Given the description of an element on the screen output the (x, y) to click on. 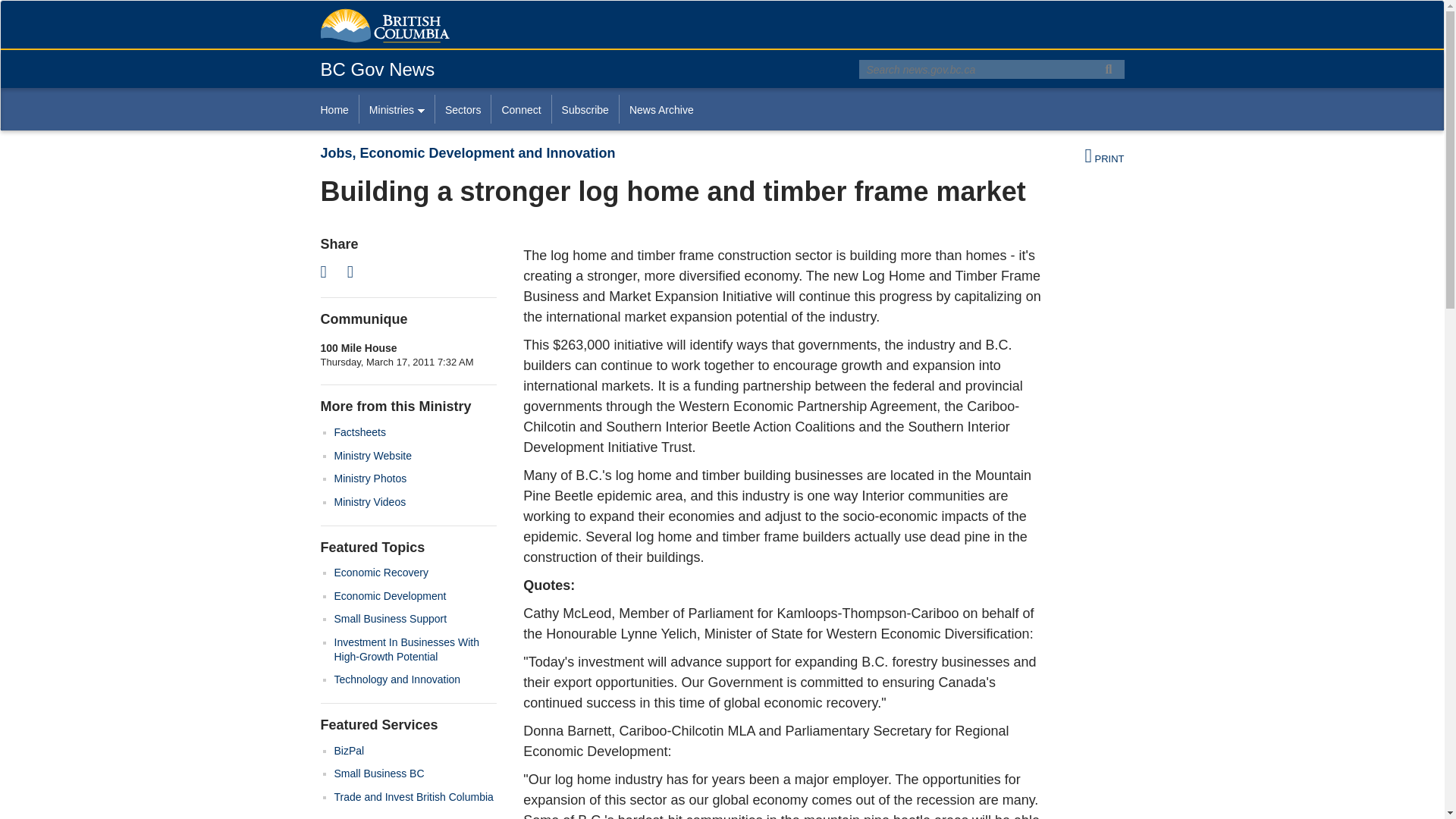
Subscribe (584, 109)
Home (339, 109)
Government of B.C. (384, 25)
Sectors (461, 109)
Connect (520, 109)
News Archive (660, 109)
Ministries (395, 109)
X (327, 271)
BC Gov News (376, 68)
